Given the description of an element on the screen output the (x, y) to click on. 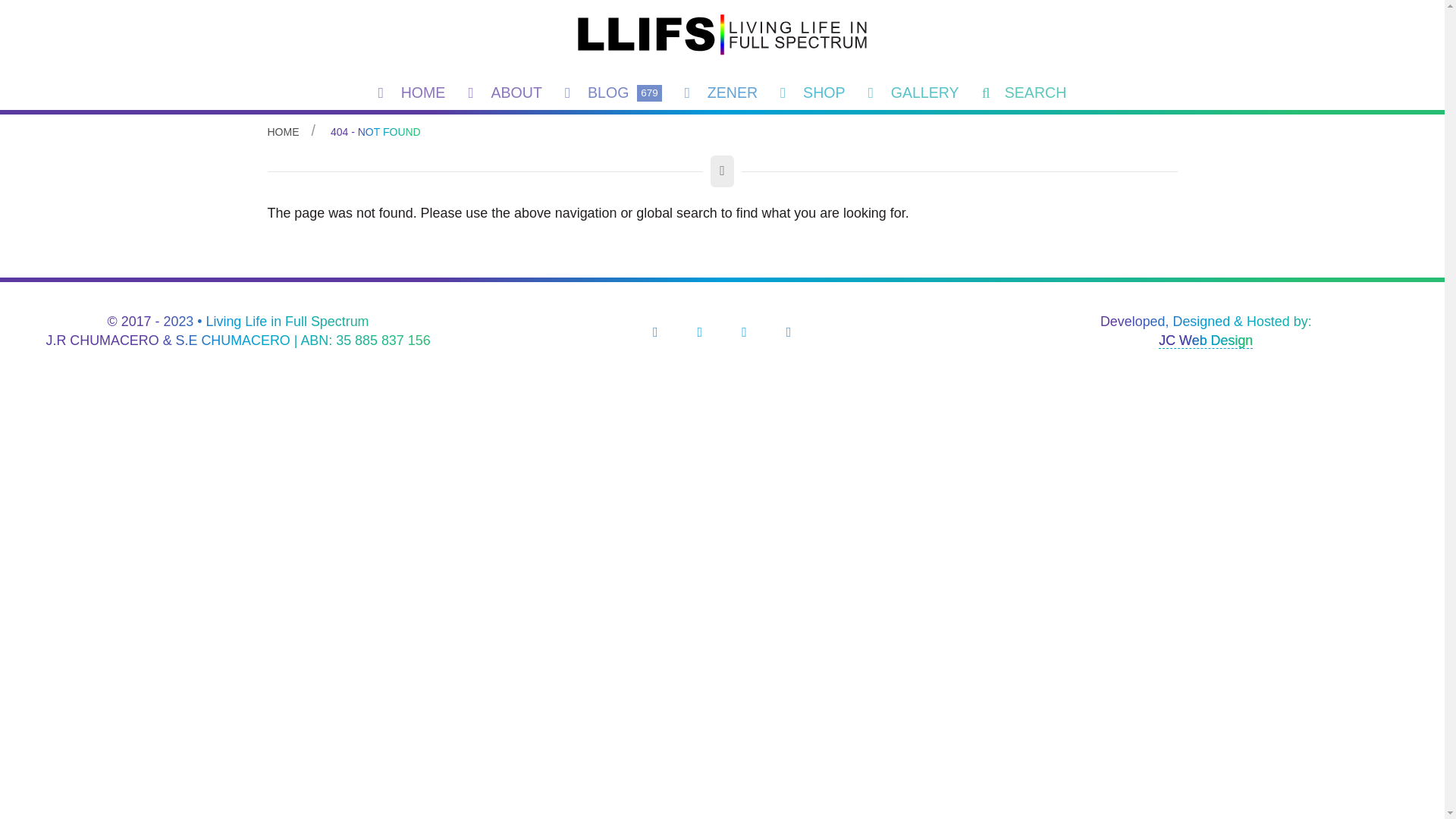
HOME Element type: text (412, 92)
SHOP Element type: text (812, 92)
BLOG  
679 Element type: text (613, 92)
HOME Element type: text (282, 131)
SEARCH Element type: text (1024, 92)
ABOUT Element type: text (504, 92)
GALLERY Element type: text (913, 92)
JC Web Design Element type: text (1205, 340)
ZENER Element type: text (720, 92)
